Given the description of an element on the screen output the (x, y) to click on. 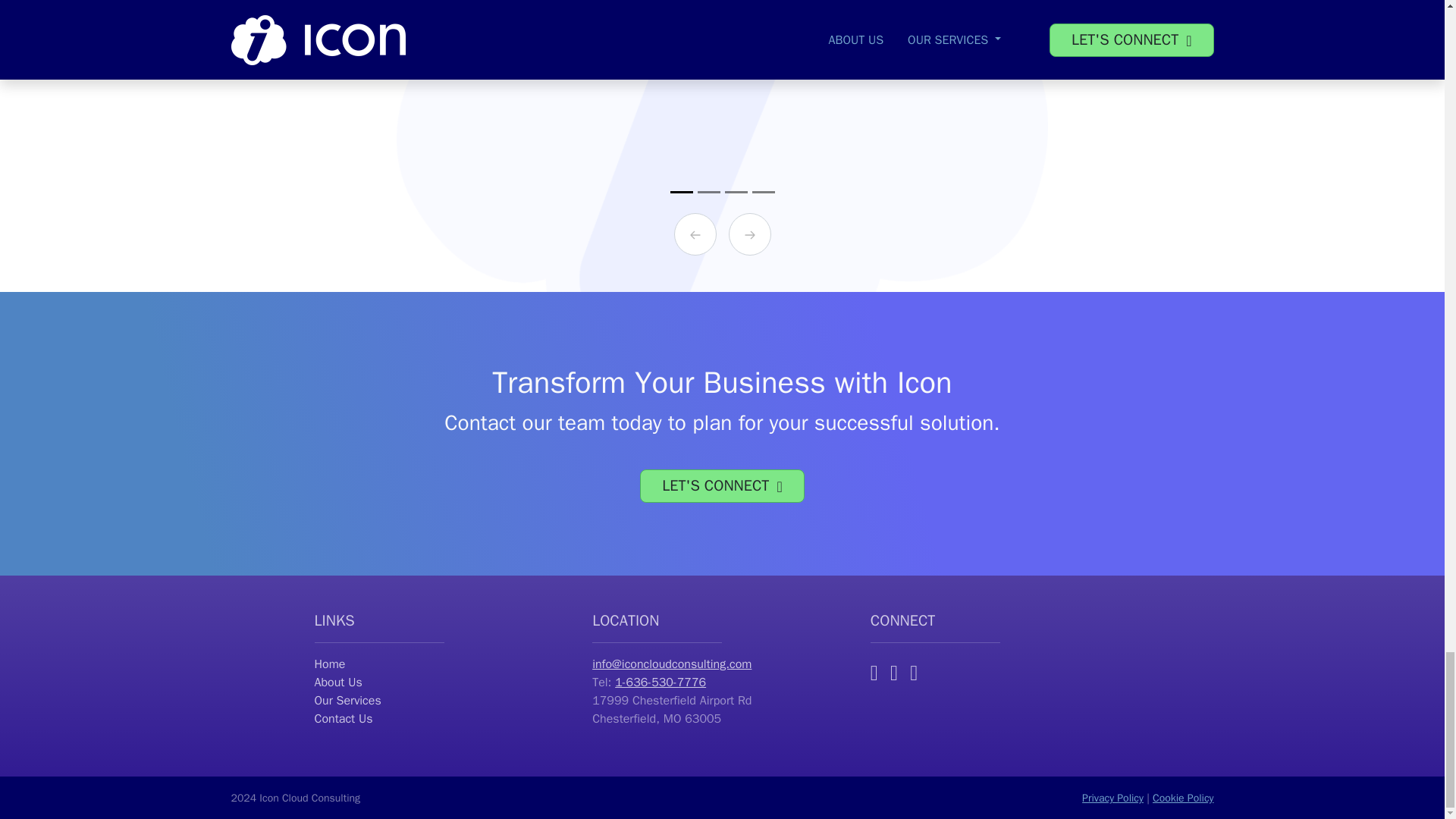
Icon Cloud Consulting on LinkedIn (873, 671)
Next (749, 233)
About Us (443, 682)
Icon Cloud Consulting on Twitter (913, 671)
Home (443, 664)
Icon Cloud Consulting on Facebook (893, 671)
Contact Us (443, 719)
Privacy Policy (1111, 797)
Previous (694, 233)
Icon Cloud Consulting on Twitter (913, 671)
LET'S CONNECT (721, 485)
Our Services (443, 700)
Icon Cloud Consulting on LinkedIn (873, 671)
1-636-530-7776 (660, 682)
Icon Cloud Consulting on Facebook (893, 671)
